Given the description of an element on the screen output the (x, y) to click on. 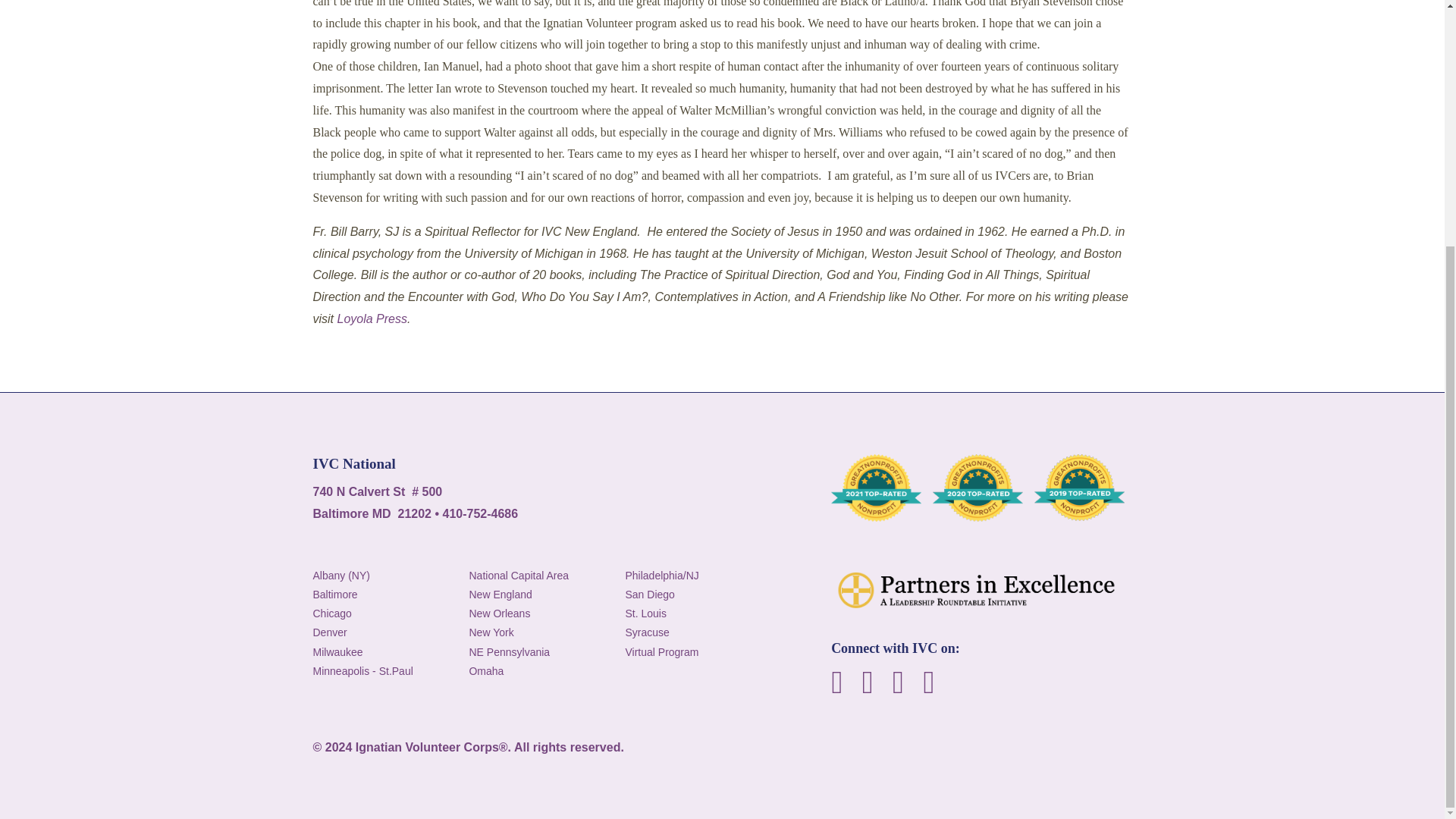
2019-top-rated-awards-badge-hi-res (1078, 487)
2020-top-rated-awards-badge-hi-res (978, 487)
roundtable (981, 591)
2021-top-rated-awards-badge-embed (876, 487)
